Given the description of an element on the screen output the (x, y) to click on. 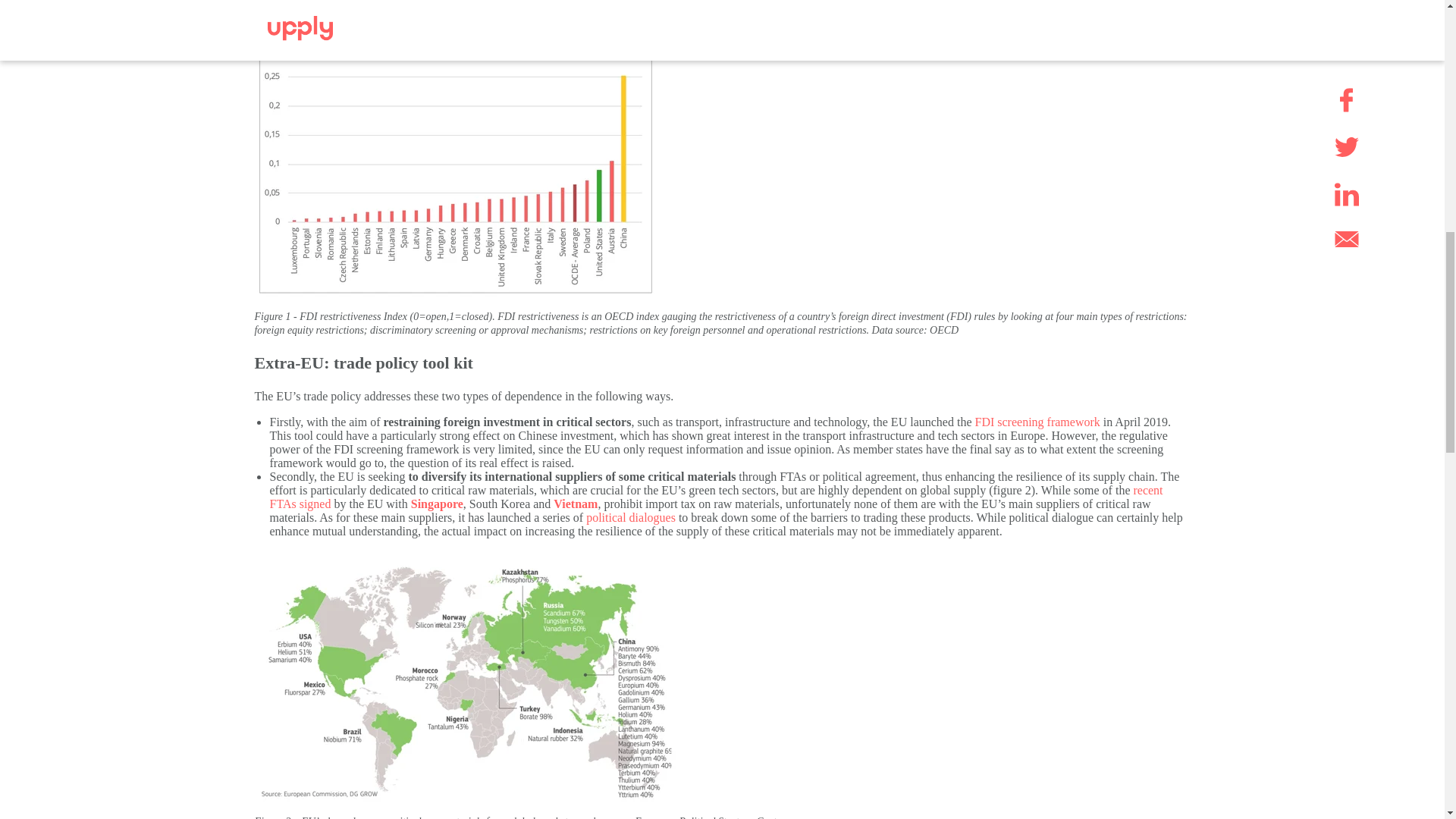
political dialogues (630, 517)
recent FTAs signed (715, 497)
Singapore (436, 503)
FDI screening framework (1037, 421)
Vietnam (574, 503)
